Given the description of an element on the screen output the (x, y) to click on. 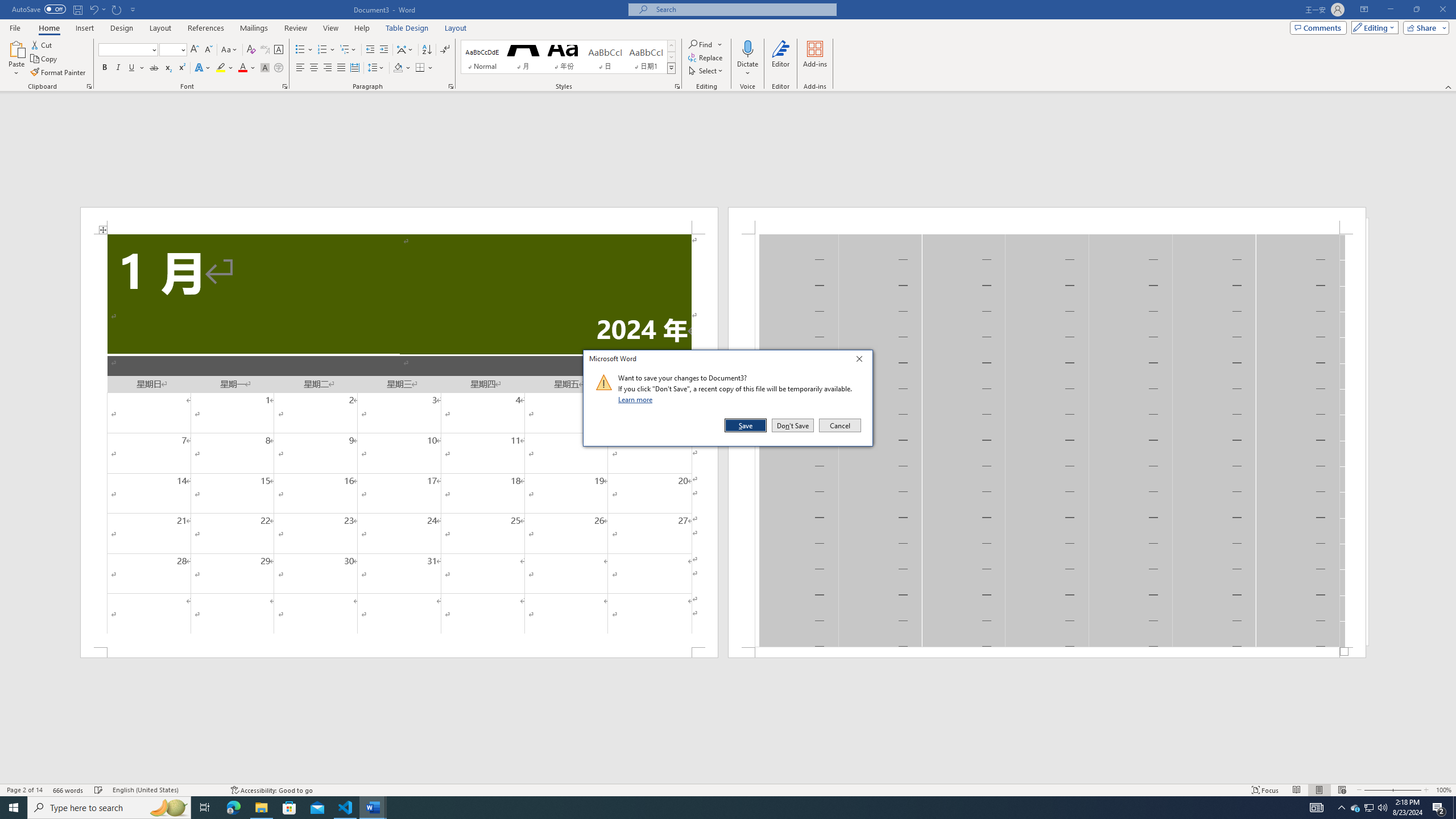
Bullets (300, 49)
Design (122, 28)
Text Highlight Color Yellow (220, 67)
Clear Formatting (250, 49)
Minimize (1390, 9)
Find (705, 44)
Comments (1318, 27)
Asian Layout (405, 49)
Font (124, 49)
Notification Chevron (1341, 807)
Read Mode (1296, 790)
